Given the description of an element on the screen output the (x, y) to click on. 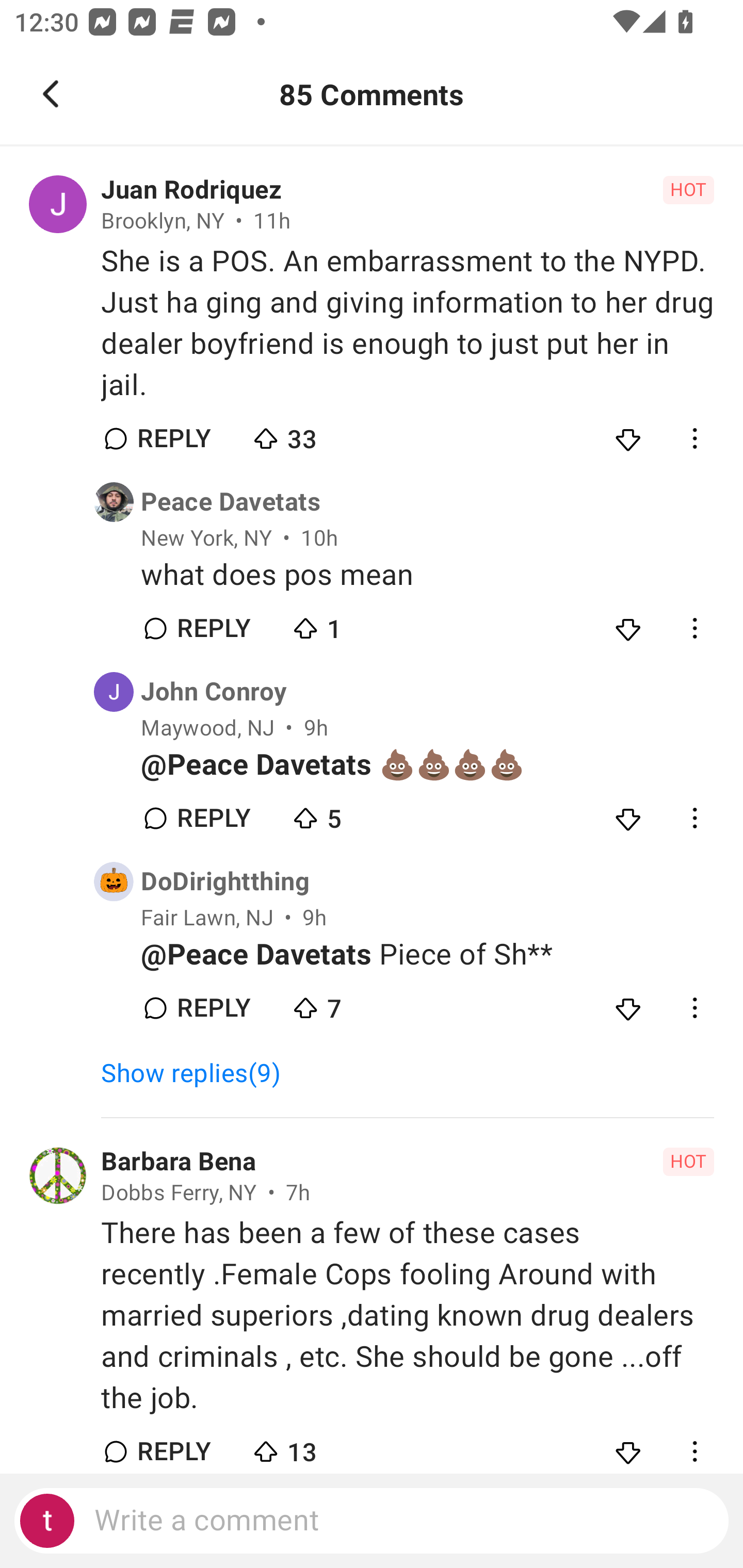
Navigate up (50, 93)
Juan Rodriquez (191, 190)
33 (320, 433)
REPLY (173, 438)
Peace Davetats (230, 502)
what does pos mean  (427, 575)
1 (360, 623)
REPLY (213, 627)
John Conroy (214, 692)
@Peace Davetats 💩💩💩💩 (427, 764)
5 (360, 813)
REPLY (213, 817)
DoDirightthing (225, 881)
@Peace Davetats Piece of Sh** (427, 954)
7 (360, 1004)
REPLY (213, 1008)
Show replies(9) (199, 1073)
Barbara Bena (178, 1161)
13 (320, 1444)
REPLY (173, 1447)
Write a comment (371, 1520)
